Given the description of an element on the screen output the (x, y) to click on. 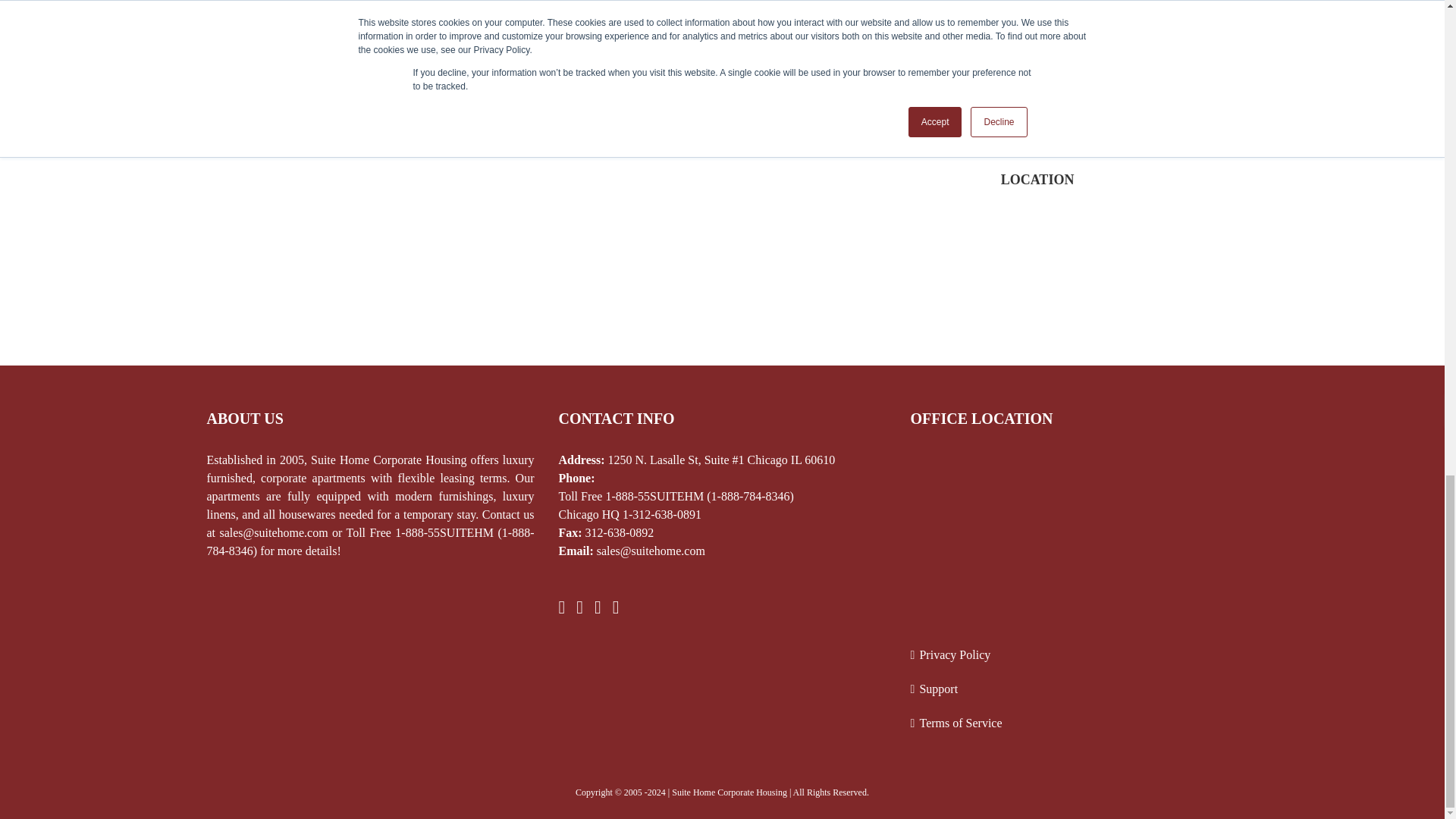
Posts by Suite Home (241, 0)
Chicago Guide (360, 0)
Suite Home (241, 0)
0 Comments (420, 0)
Submit (1048, 102)
